Given the description of an element on the screen output the (x, y) to click on. 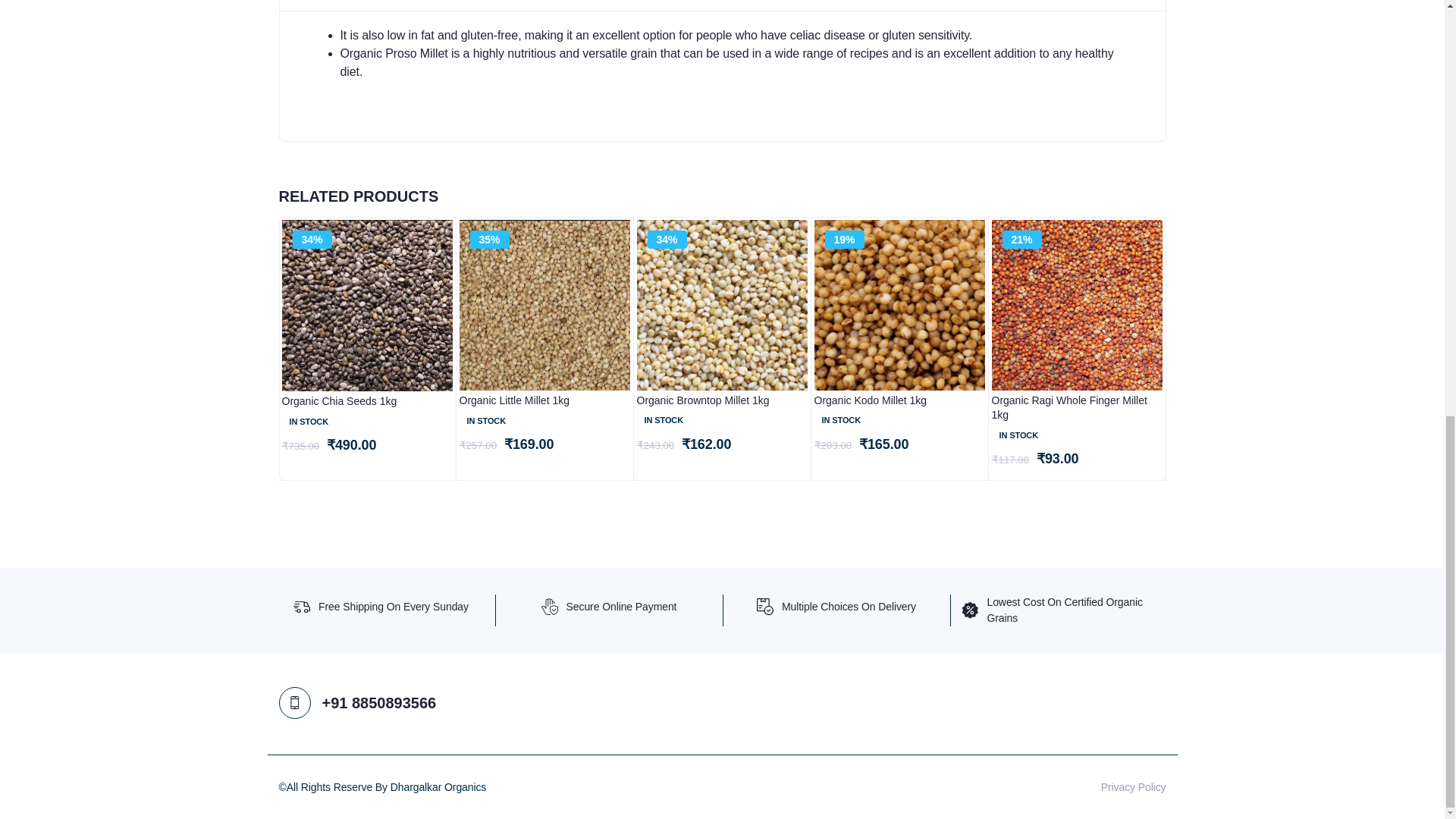
Organic Ragi Whole Finger Millet 1kg (1076, 408)
Organic Browntop Millet 1kg (722, 400)
Organic Chia Seeds 1kg (367, 401)
Organic Kodo Millet 1kg (899, 400)
Organic Little Millet 1kg (545, 400)
